Given the description of an element on the screen output the (x, y) to click on. 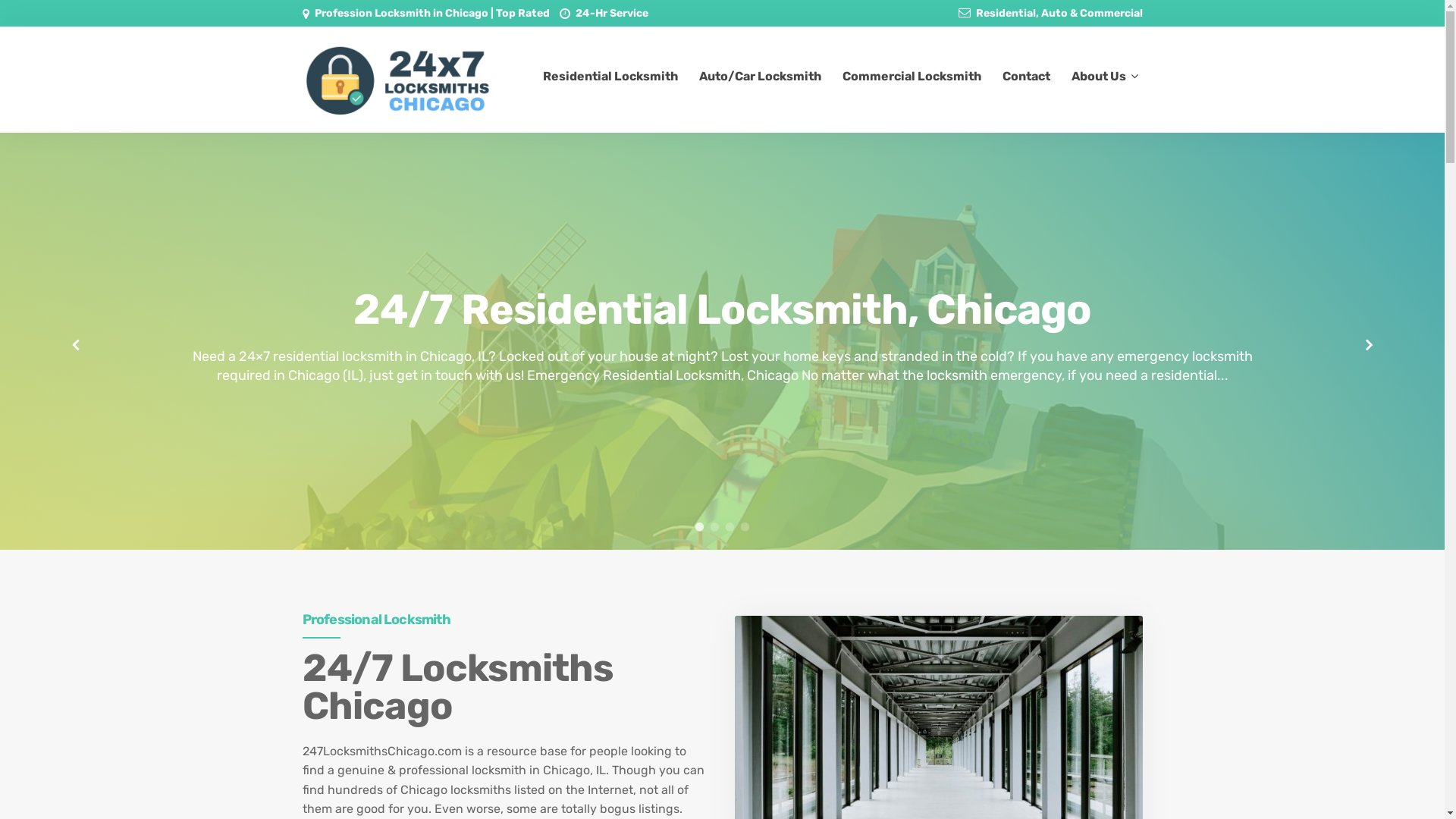
Contact Element type: text (1026, 76)
4 Element type: text (744, 526)
Commercial Locksmith Element type: text (910, 76)
Residential Locksmith Element type: text (609, 76)
2 Element type: text (713, 526)
About Us Element type: text (1103, 76)
1 Element type: text (698, 526)
Auto/Car Locksmith Element type: text (760, 76)
3 Element type: text (729, 526)
